Given the description of an element on the screen output the (x, y) to click on. 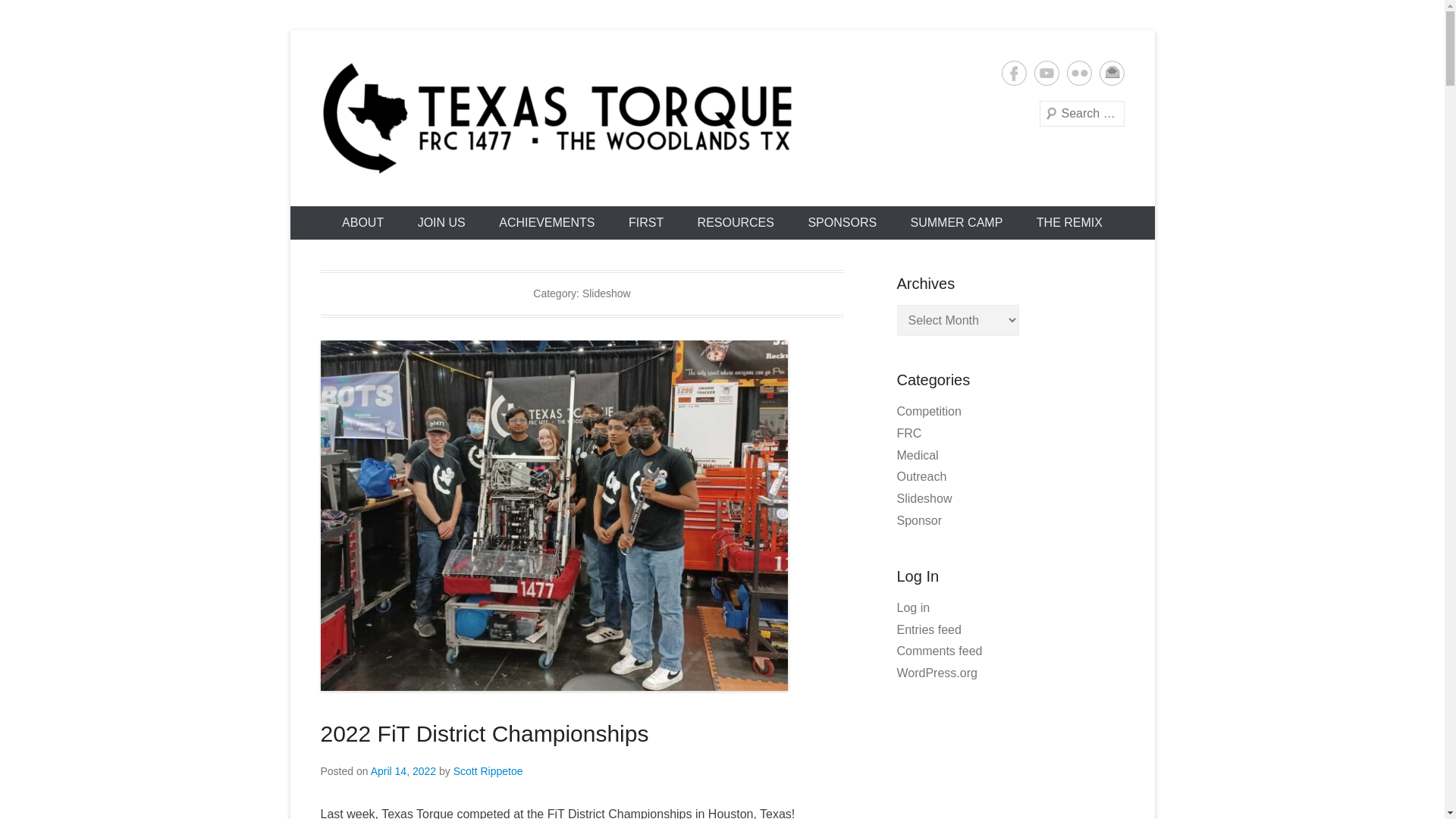
JOIN US (441, 222)
YouTube (1046, 72)
FIRST (645, 222)
Flickr (1077, 72)
Flickr (1077, 72)
Texas Torque: Team 1477 (547, 201)
ABOUT (362, 222)
Search (32, 15)
Facebook (1013, 72)
